Given the description of an element on the screen output the (x, y) to click on. 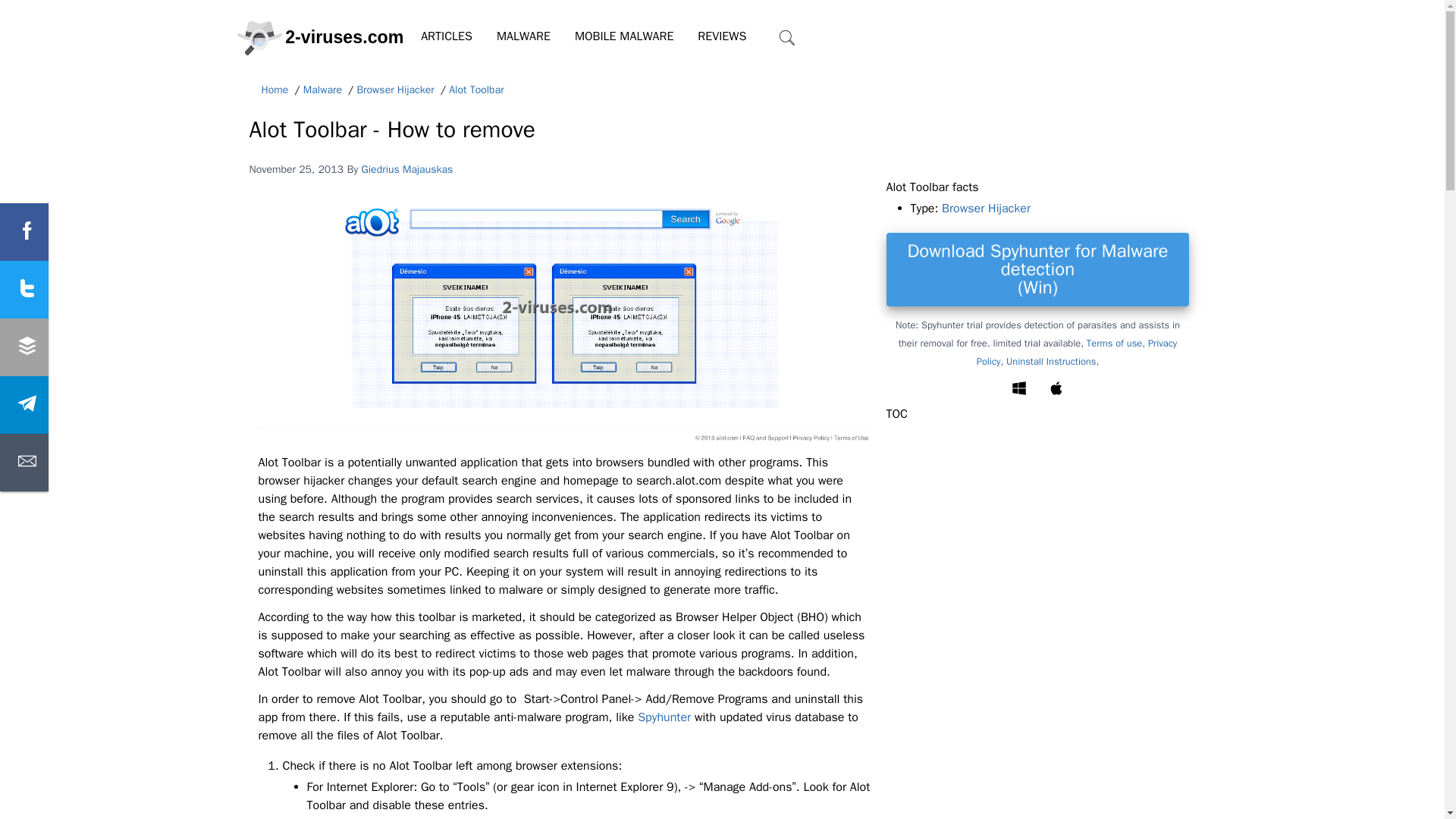
Home (274, 90)
Browser Hijacker (986, 207)
Malware (322, 90)
Privacy Policy (1076, 351)
REVIEWS (721, 36)
MALWARE (523, 36)
Browser Hijacker (394, 90)
Alot Toolbar (475, 90)
Terms of use (1113, 342)
Spyhunter (663, 717)
